Given the description of an element on the screen output the (x, y) to click on. 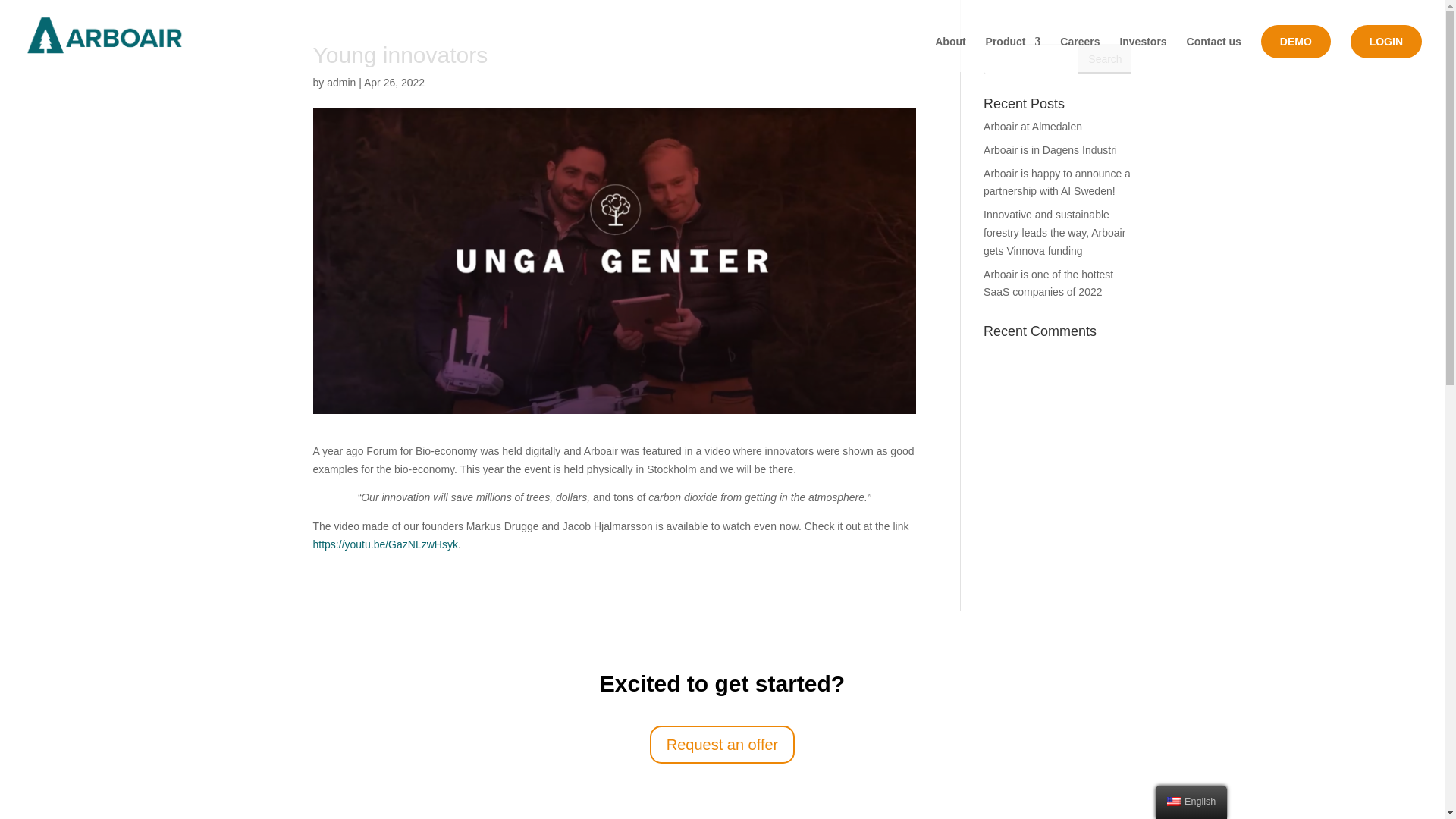
Careers (1079, 54)
Search (1104, 59)
Posts by admin (340, 82)
English (1191, 802)
DEMO (1295, 41)
Arboair is happy to announce a partnership with AI Sweden! (1057, 182)
Product (1013, 54)
Arboair is in Dagens Industri (1050, 150)
Search (1104, 59)
admin (340, 82)
